Given the description of an element on the screen output the (x, y) to click on. 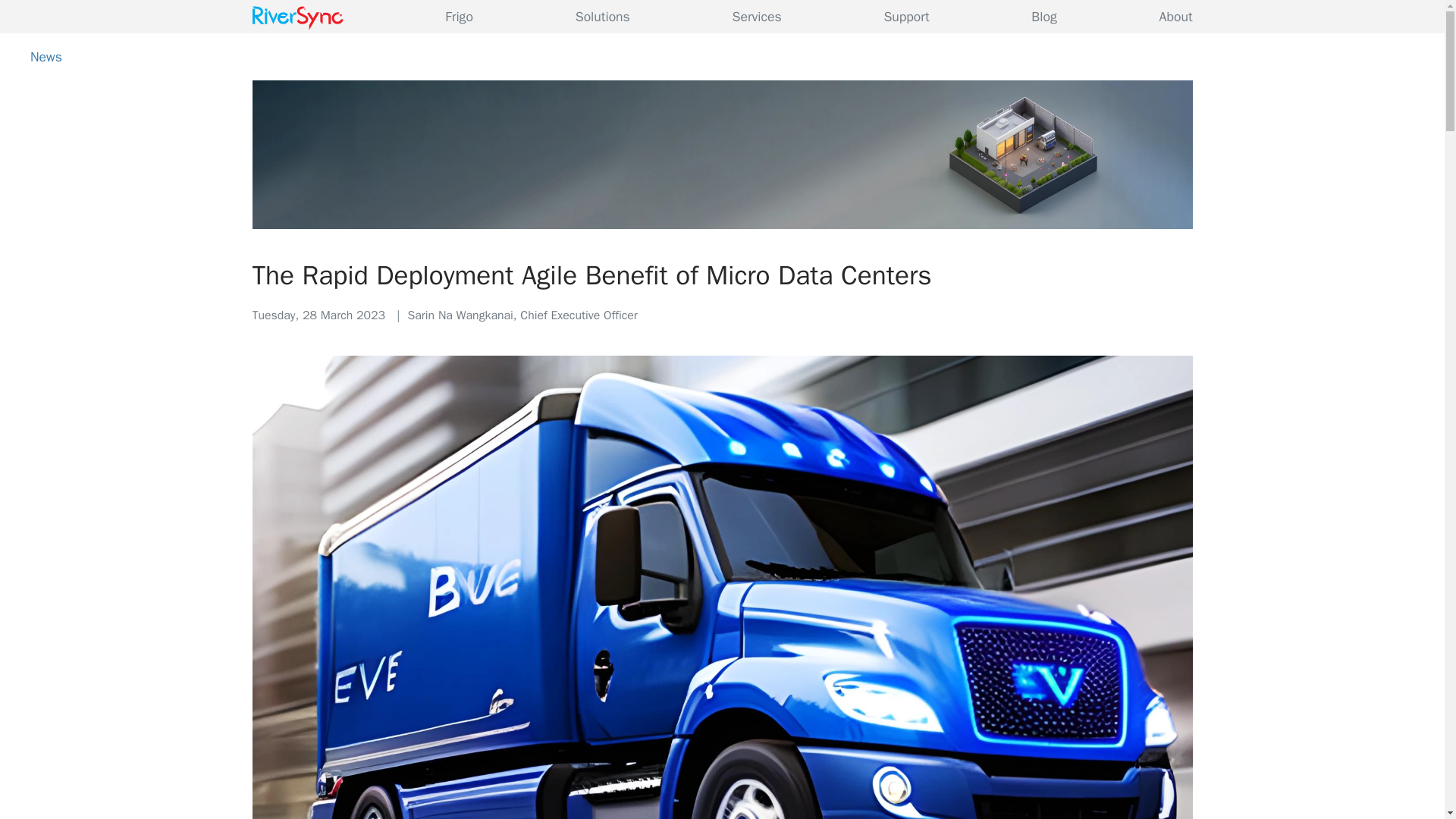
About (1175, 16)
Solutions (602, 16)
Services (756, 16)
Support (905, 16)
News (46, 56)
